Given the description of an element on the screen output the (x, y) to click on. 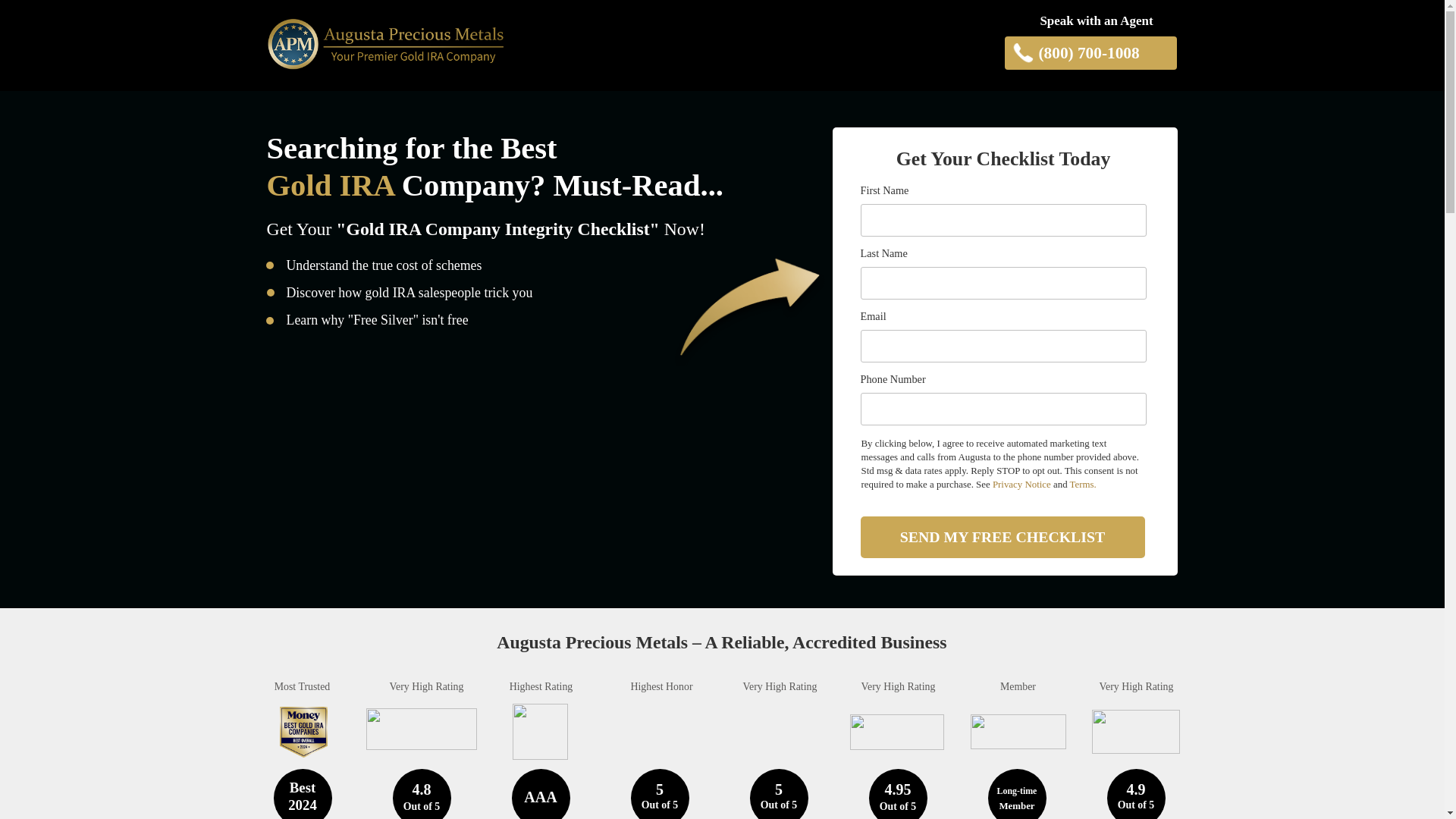
First Name (1002, 219)
Privacy Notice (1021, 484)
Terms. (1083, 484)
Last Name (1002, 282)
Email (1002, 346)
Phone Number (1002, 409)
SEND MY FREE CHECKLIST (1002, 536)
